Given the description of an element on the screen output the (x, y) to click on. 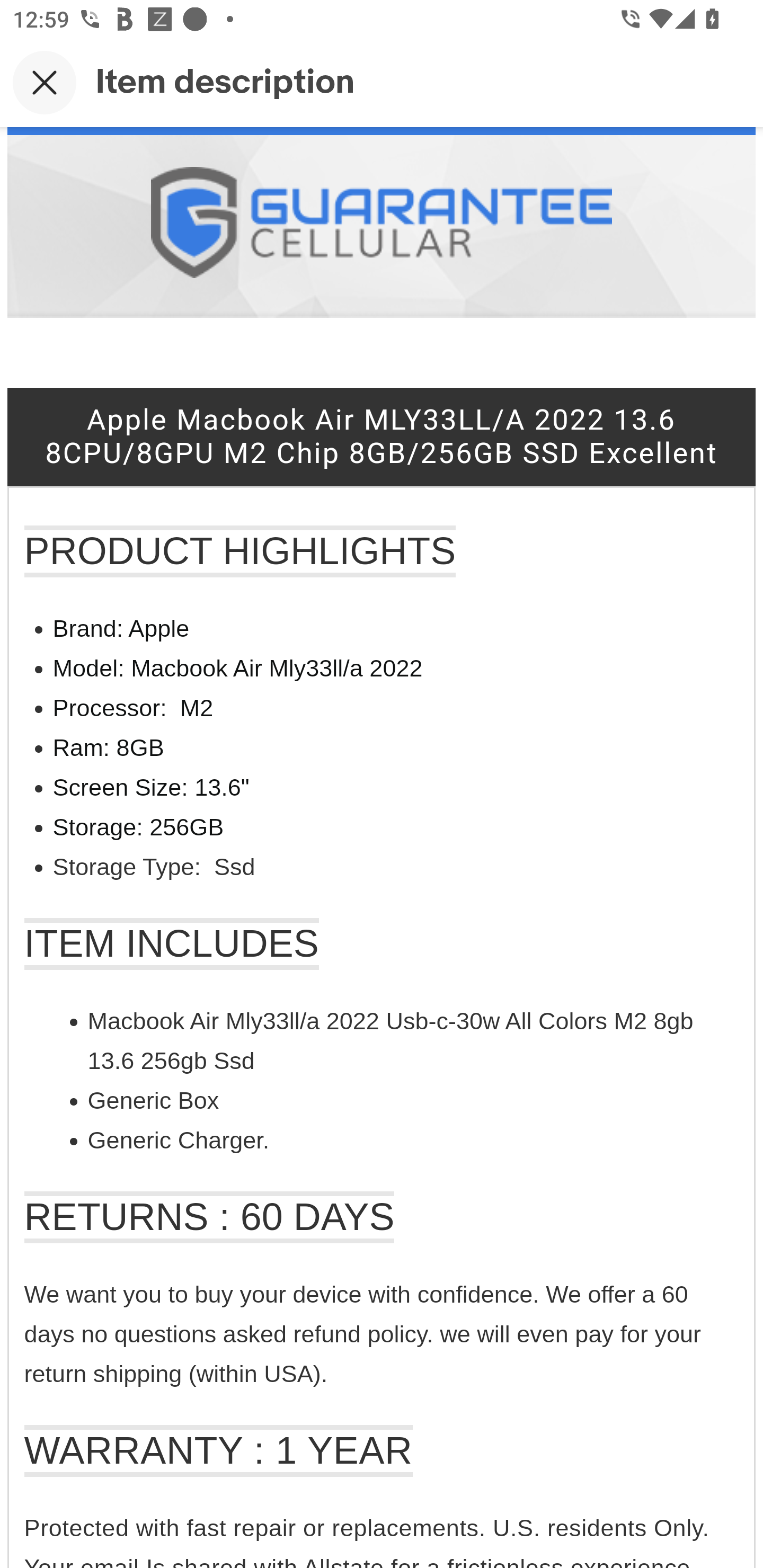
Close (44, 82)
guaranteecellular (380, 224)
